Given the description of an element on the screen output the (x, y) to click on. 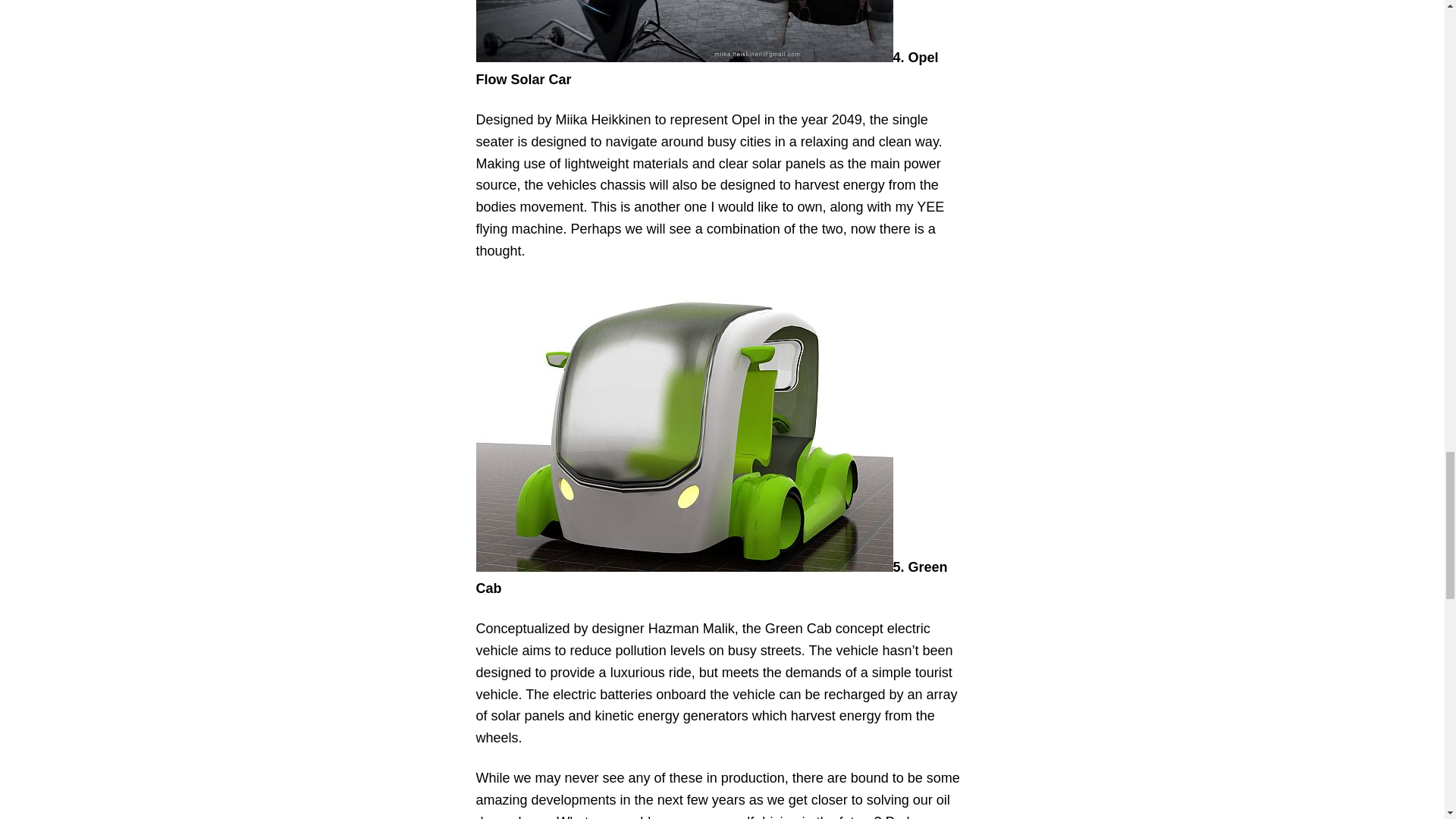
Opel-flow Solar-powered Concept Car (684, 31)
Green-cab (684, 425)
